Given the description of an element on the screen output the (x, y) to click on. 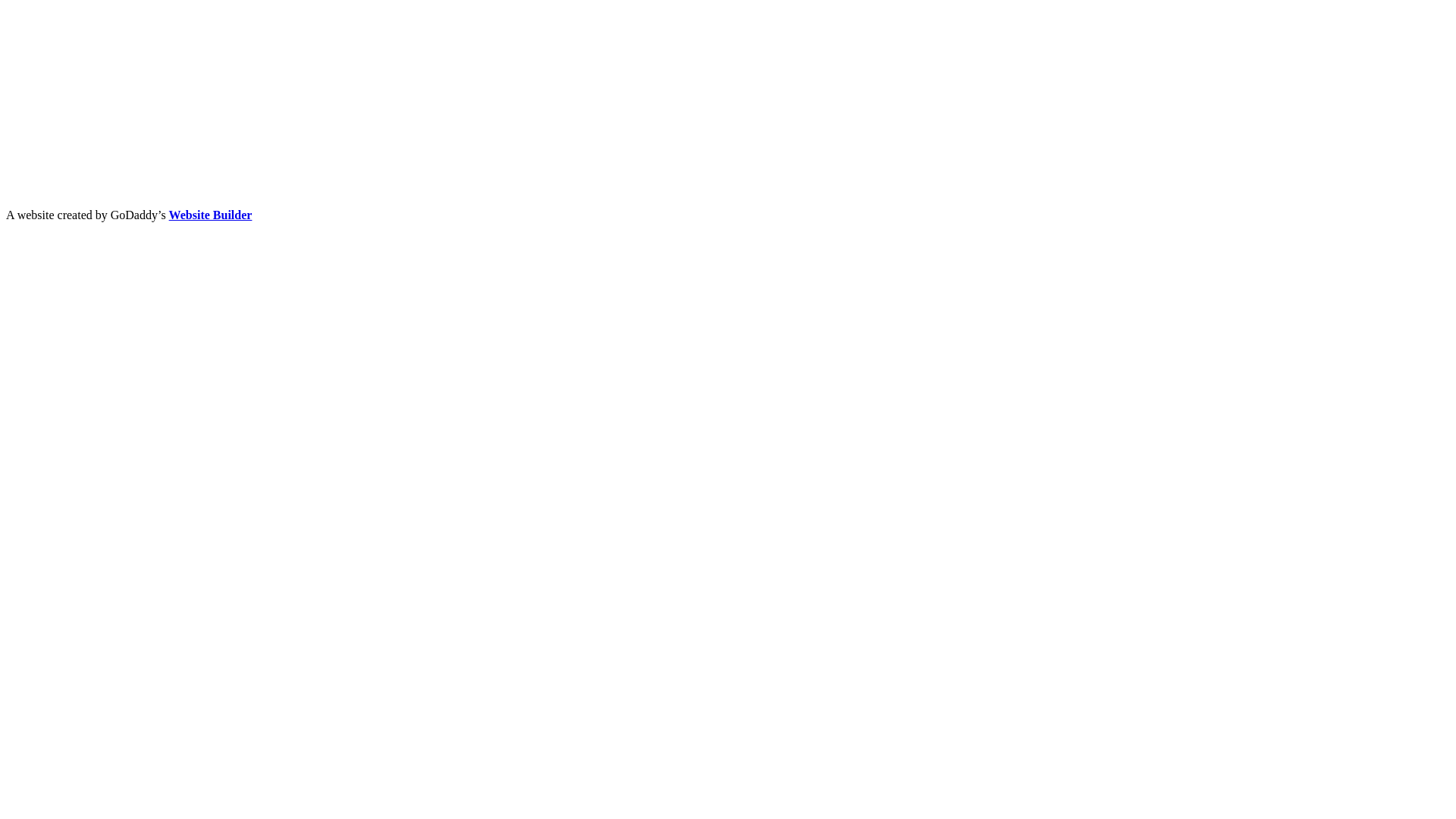
Website Builder Element type: text (210, 214)
